Given the description of an element on the screen output the (x, y) to click on. 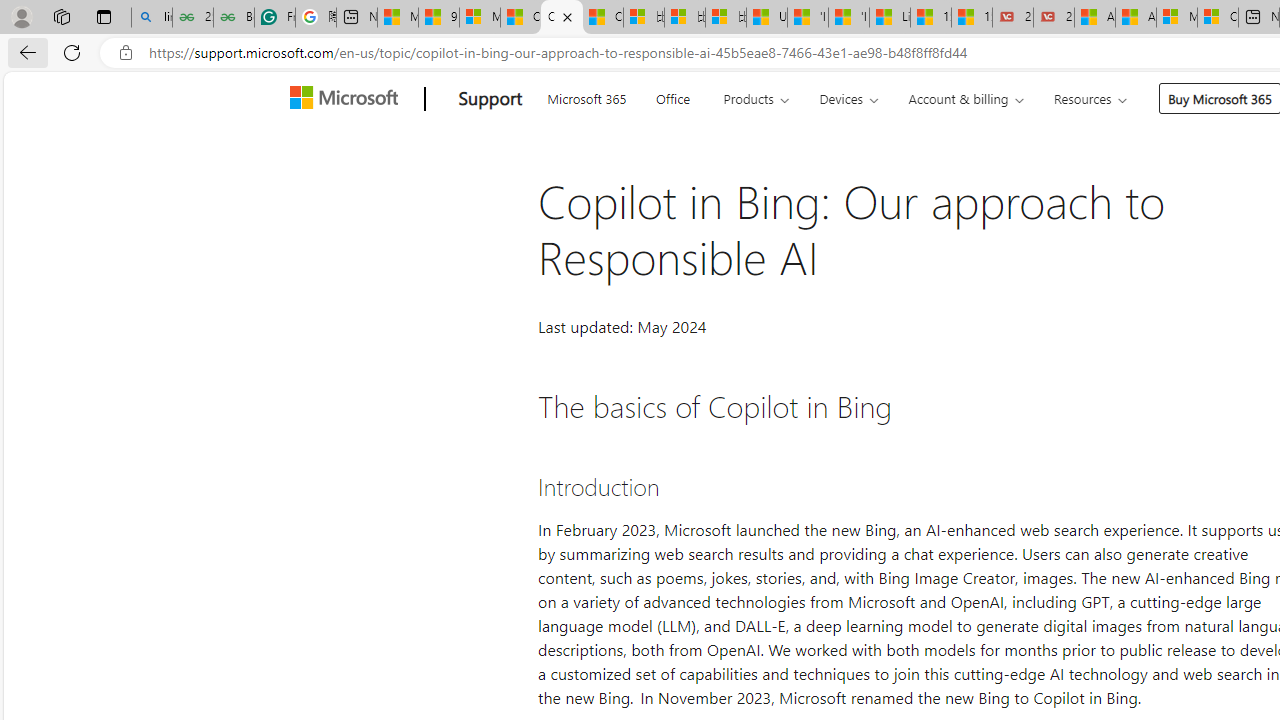
15 Ways Modern Life Contradicts the Teachings of Jesus (971, 17)
USA TODAY - MSN (767, 17)
21 Movies That Outdid the Books They Were Based On (1053, 17)
Microsoft 365 (586, 96)
Free AI Writing Assistance for Students | Grammarly (274, 17)
